Given the description of an element on the screen output the (x, y) to click on. 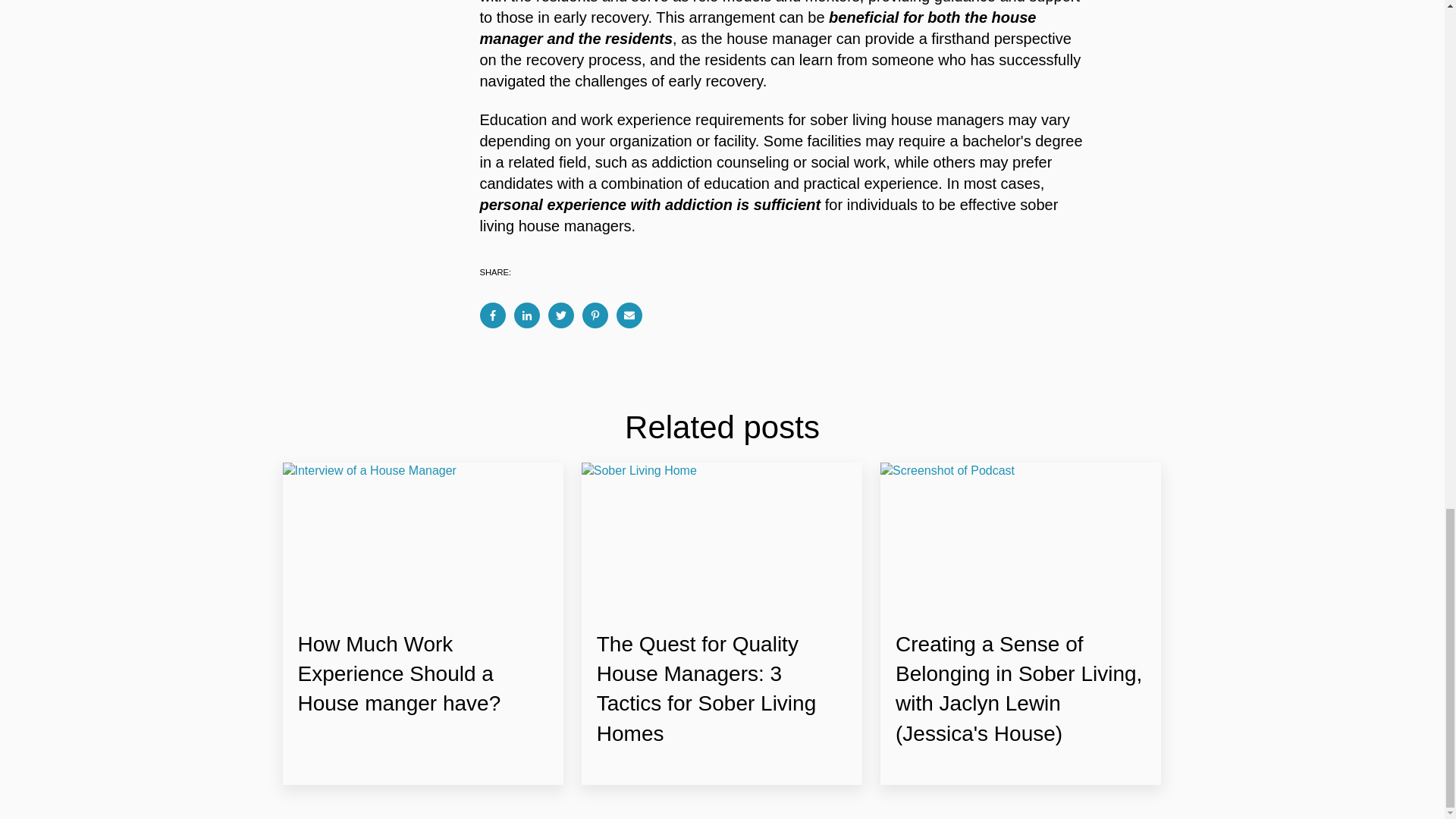
How Much Work Experience Should a House manger have? (398, 673)
